Given the description of an element on the screen output the (x, y) to click on. 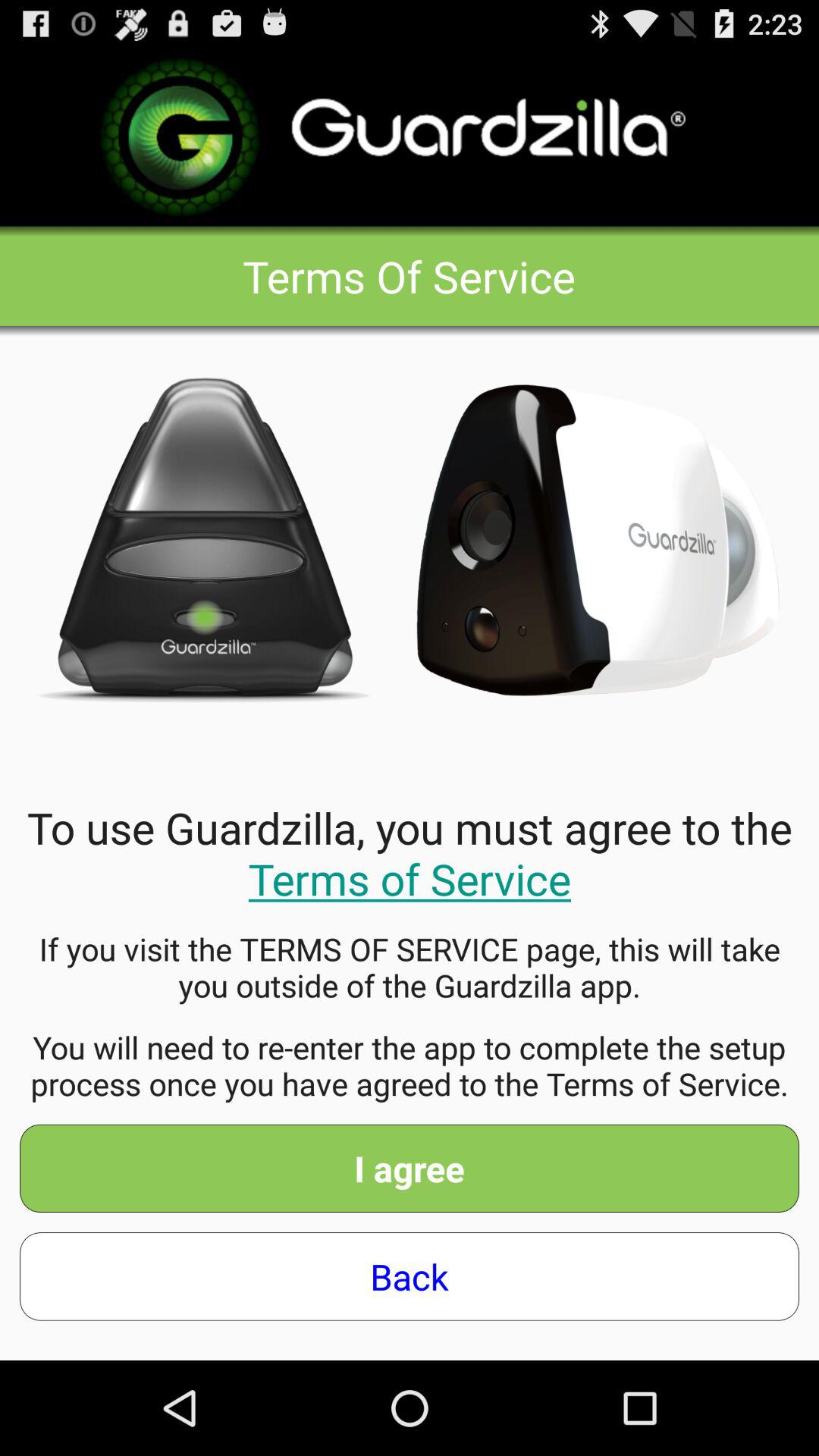
jump until to use guardzilla item (409, 852)
